Given the description of an element on the screen output the (x, y) to click on. 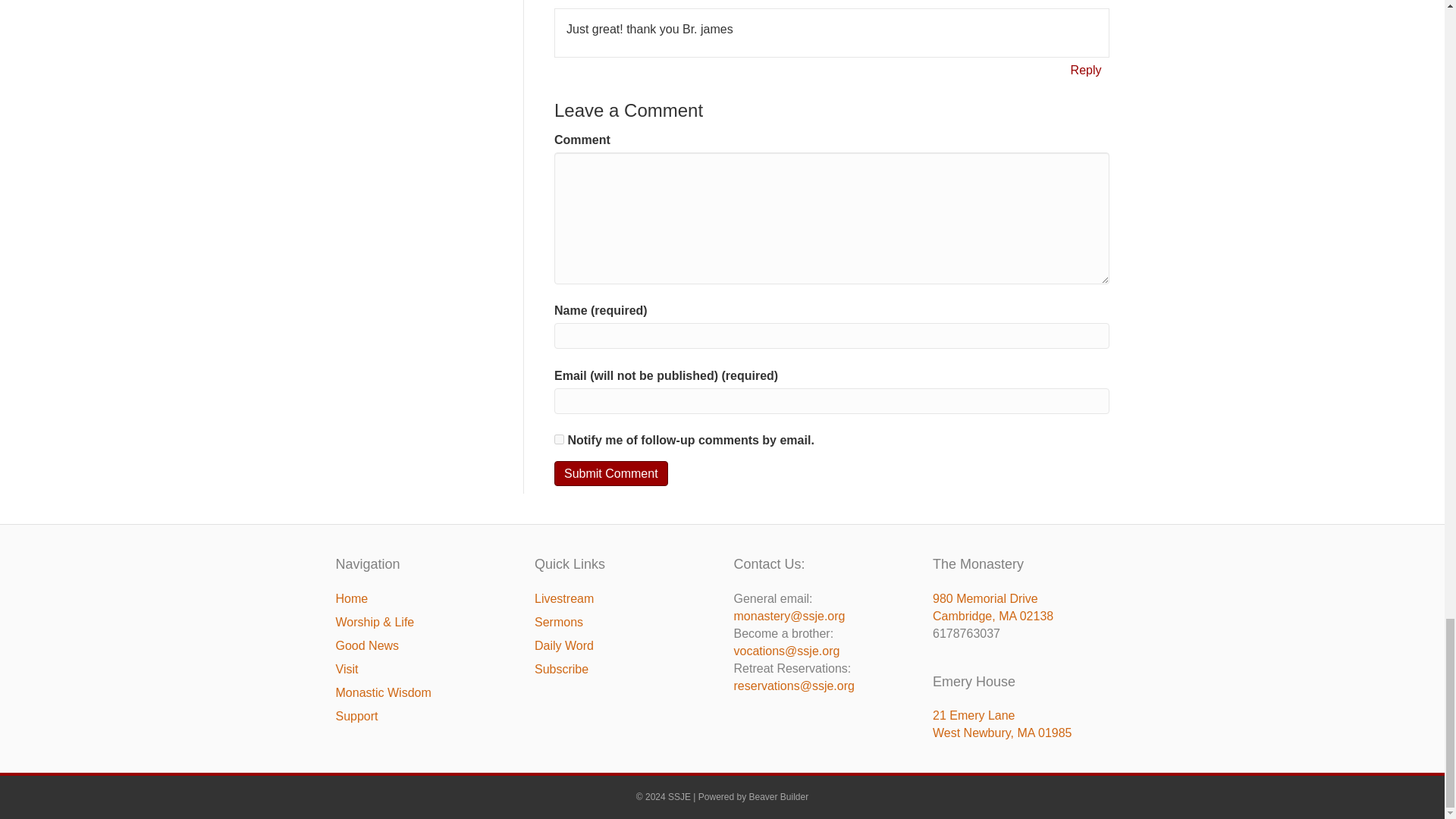
subscribe (559, 439)
Submit Comment (611, 473)
WordPress Page Builder Plugin (779, 796)
